Given the description of an element on the screen output the (x, y) to click on. 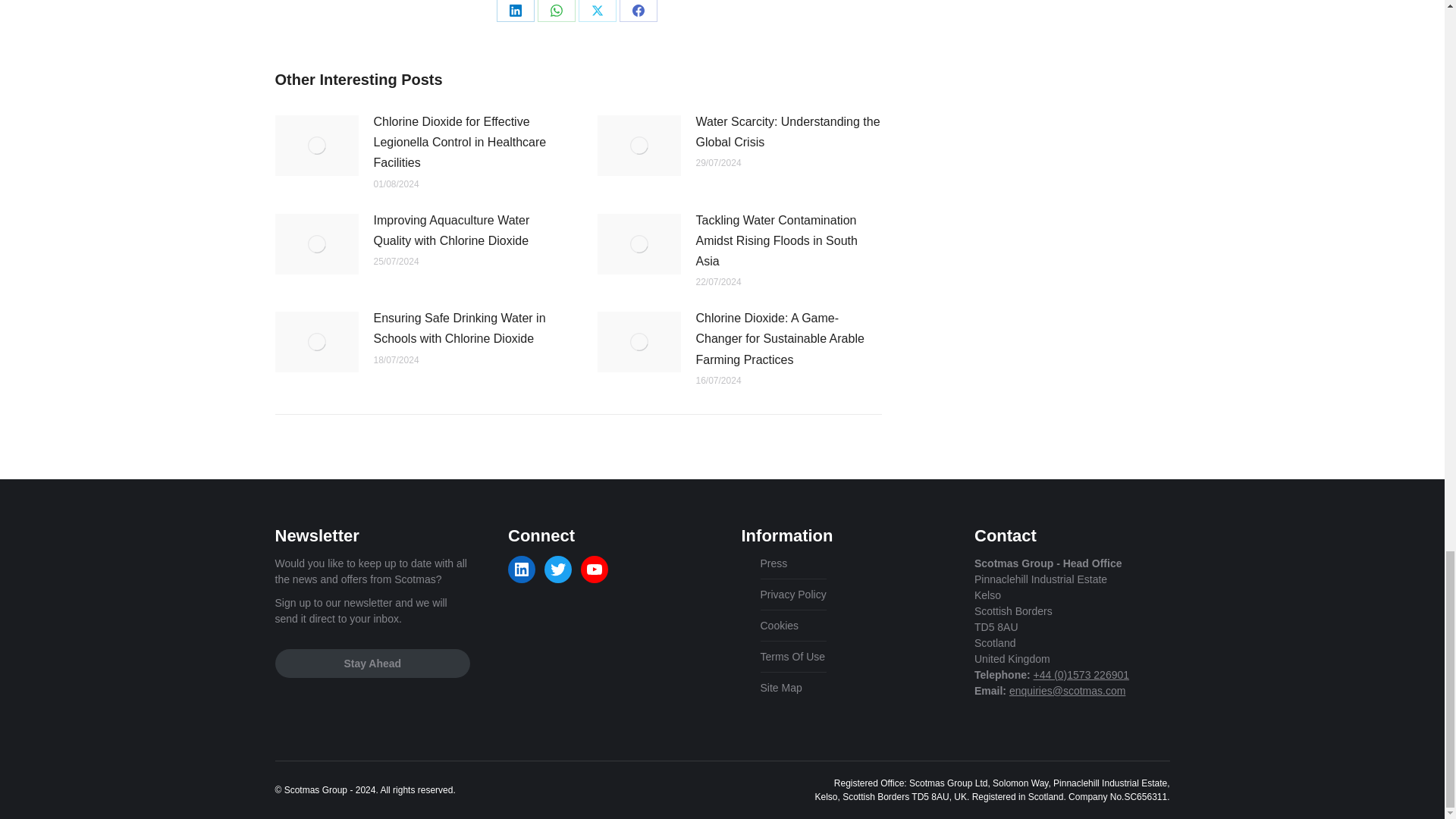
LinkedIn (515, 11)
WhatsApp (556, 11)
X (596, 11)
Facebook (637, 11)
